Given the description of an element on the screen output the (x, y) to click on. 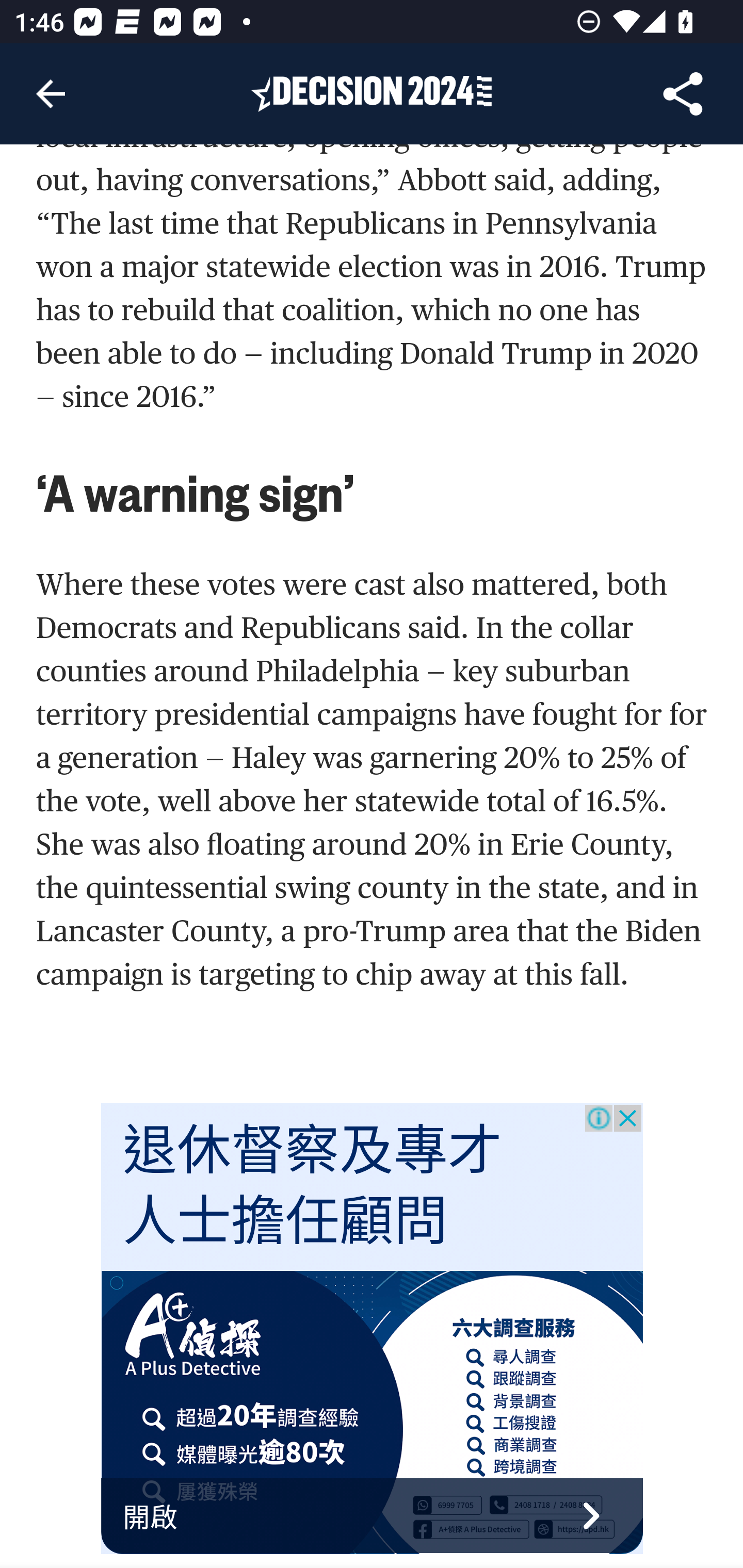
Navigate up (50, 93)
Share Article, button (683, 94)
Header, Decision 2024 (371, 93)
退休督察及專才 人士擔任顧問 退休督察及專才 人士擔任顧問 (312, 1186)
開啟 (372, 1515)
